Given the description of an element on the screen output the (x, y) to click on. 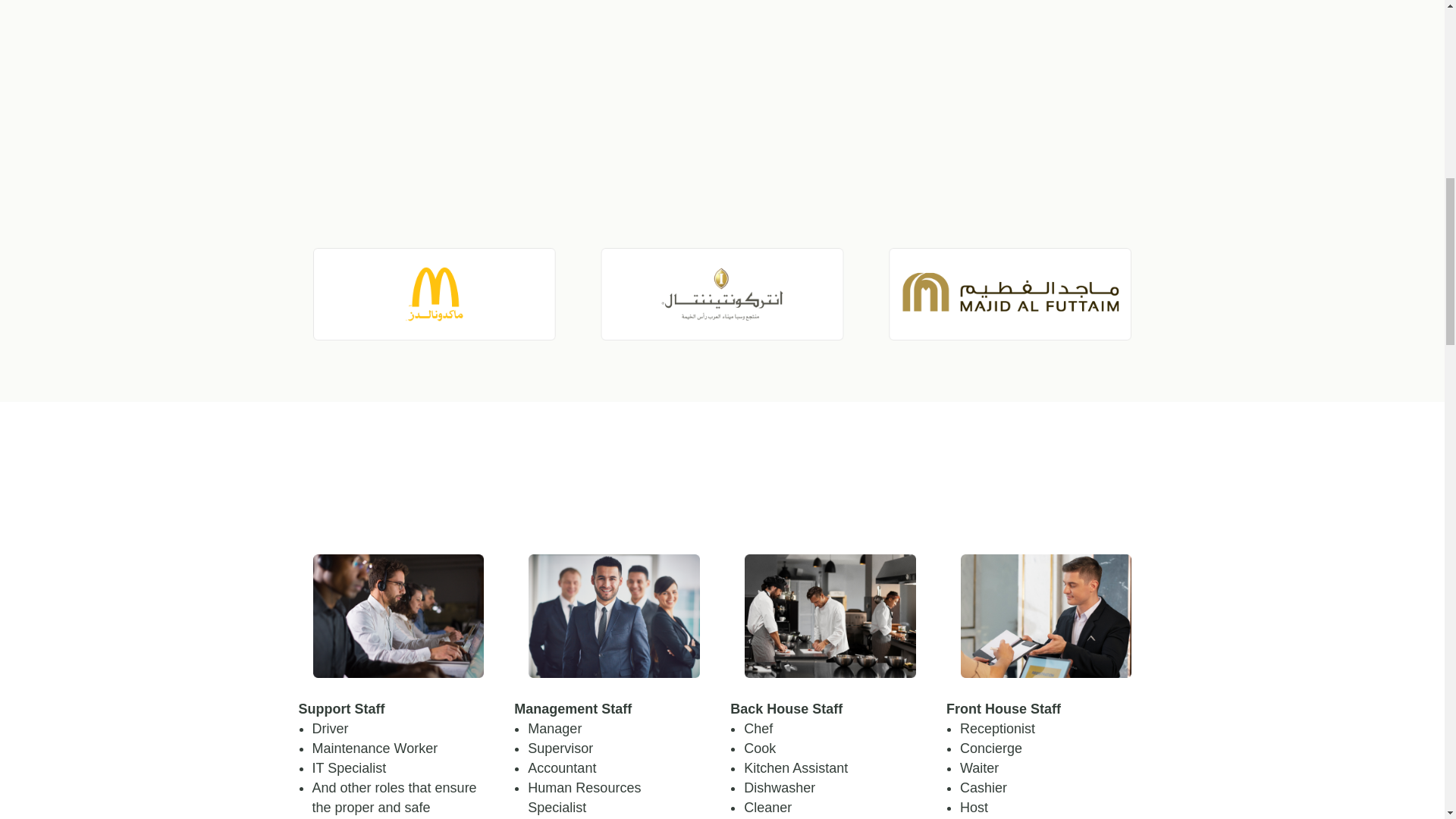
intercontnental-logo (721, 294)
hotel-receptionist-work 1 (1045, 616)
macdonalds-logo (433, 294)
majd-logo (1009, 294)
